Given the description of an element on the screen output the (x, y) to click on. 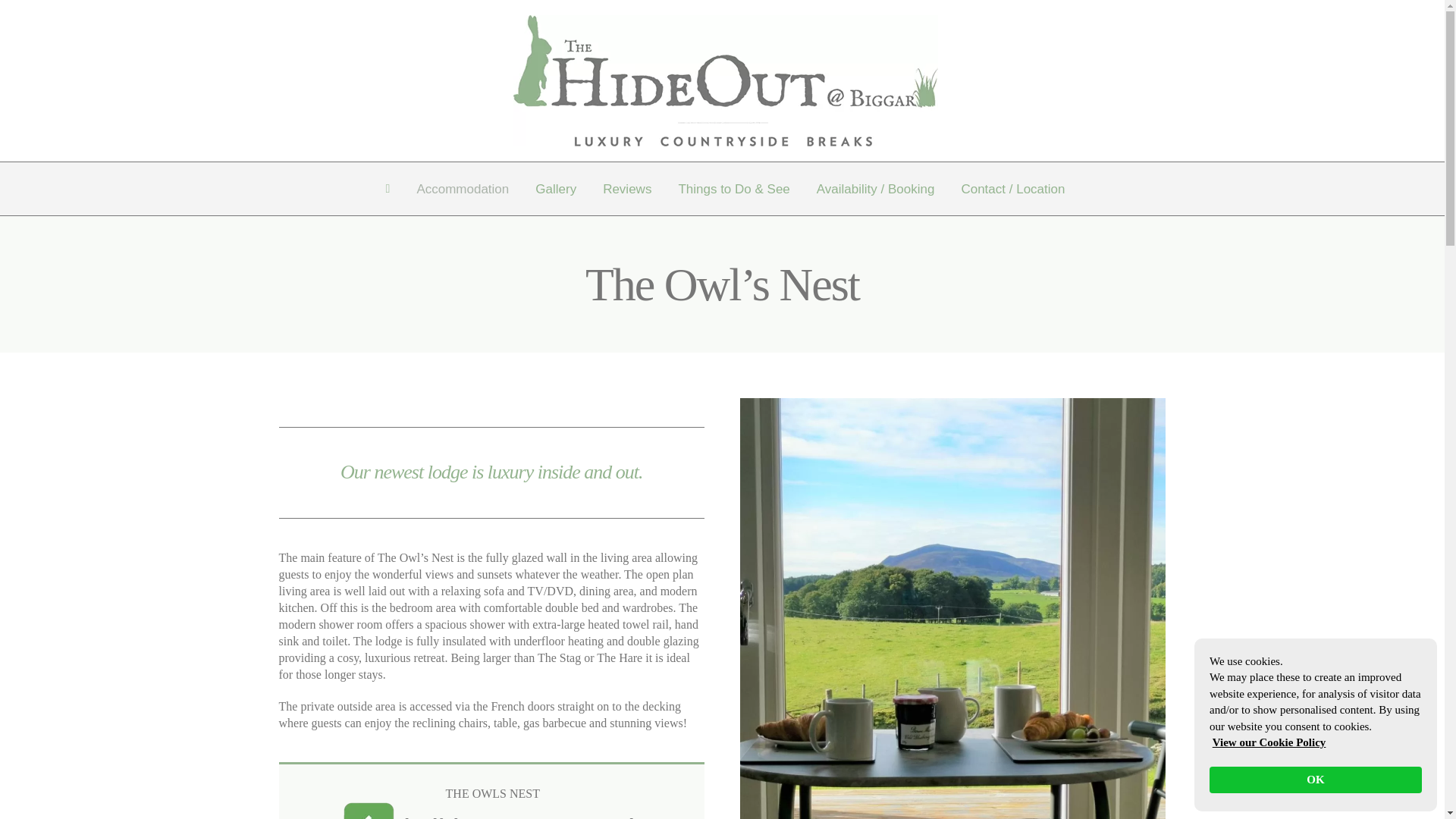
Reviews (626, 188)
Accommodation (462, 188)
View our Cookie Policy (1269, 742)
